Given the description of an element on the screen output the (x, y) to click on. 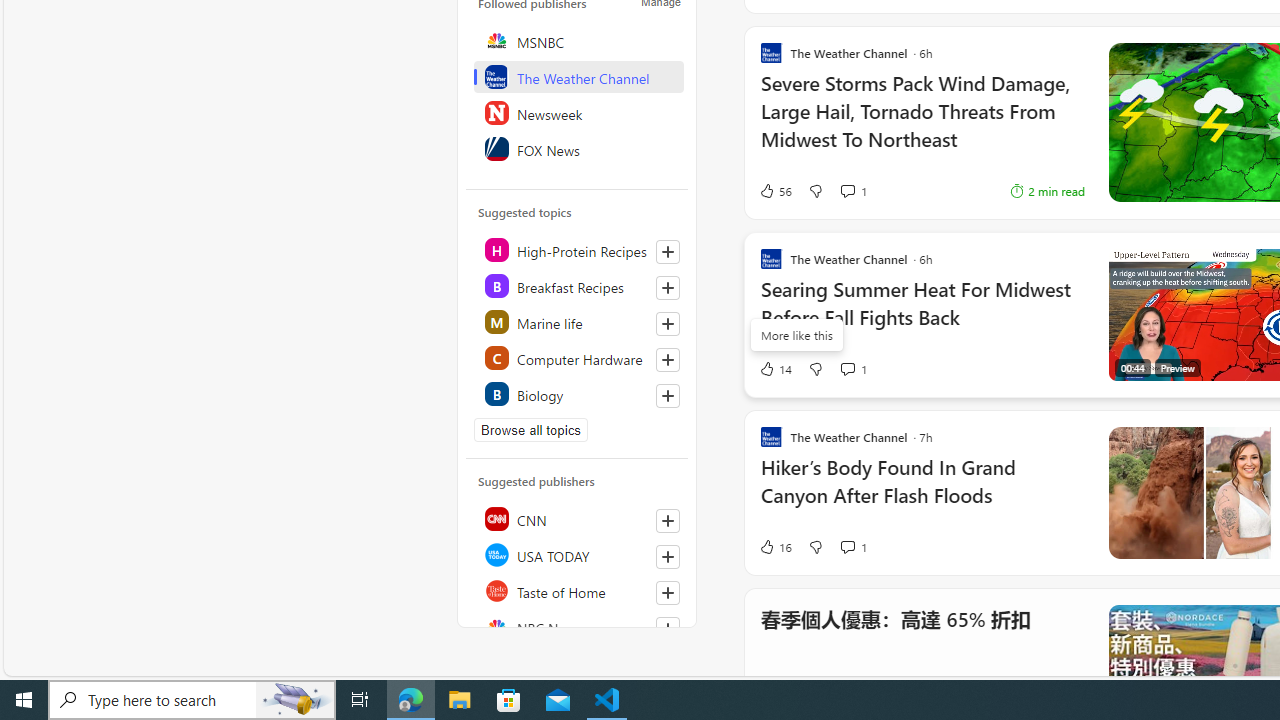
The Weather Channel (578, 76)
Browse all topics (530, 430)
56 Like (775, 191)
NBC News (578, 626)
Class: highlight (578, 393)
Newsweek (578, 112)
16 Like (775, 546)
